Given the description of an element on the screen output the (x, y) to click on. 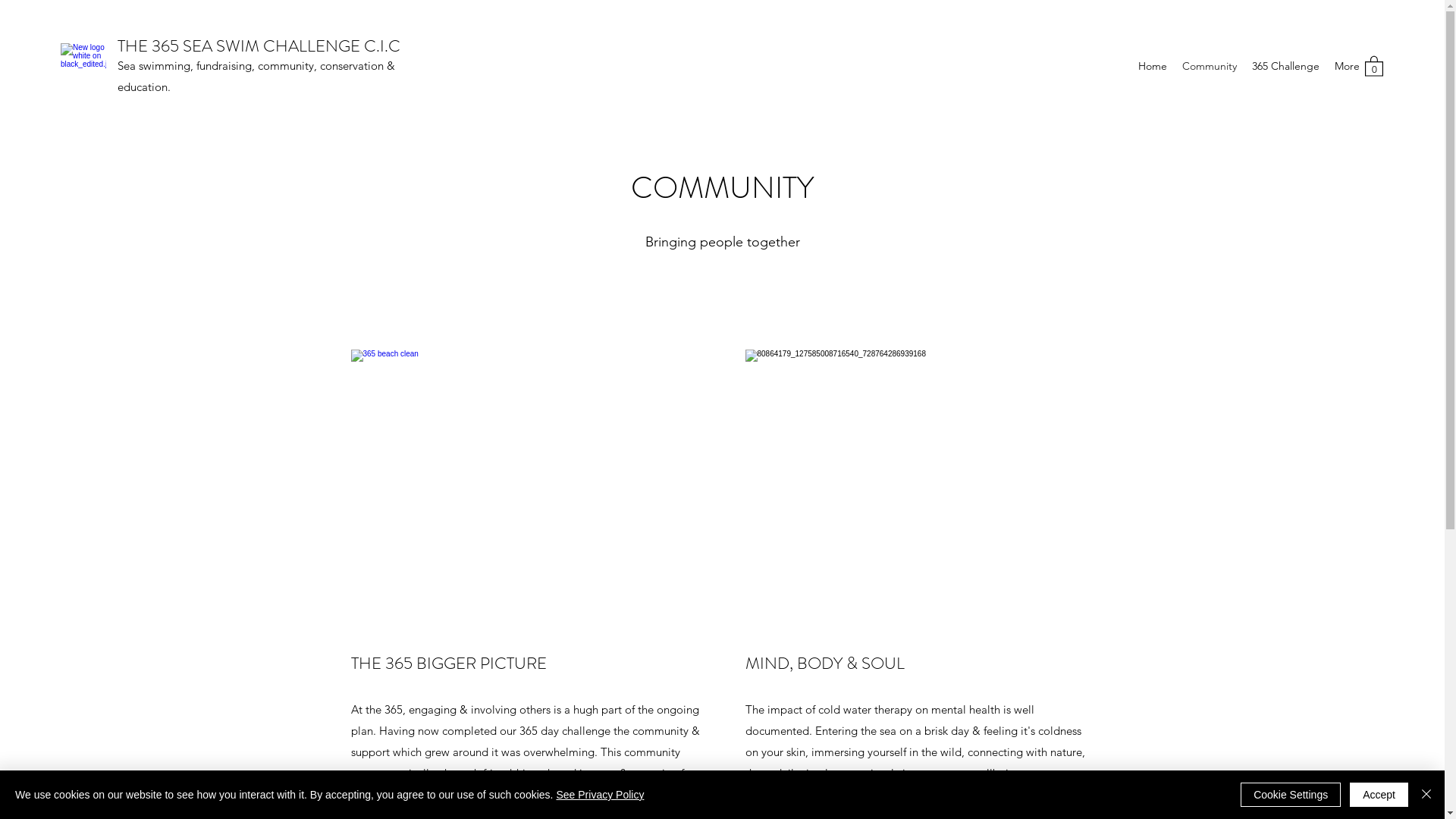
THE 365 SEA SWIM CHALLENGE C.I.C Element type: text (258, 45)
0 Element type: text (1374, 65)
365 Challenge Element type: text (1285, 65)
Community Element type: text (1209, 65)
Cookie Settings Element type: text (1290, 794)
Home Element type: text (1152, 65)
Accept Element type: text (1378, 794)
See Privacy Policy Element type: text (599, 794)
